Given the description of an element on the screen output the (x, y) to click on. 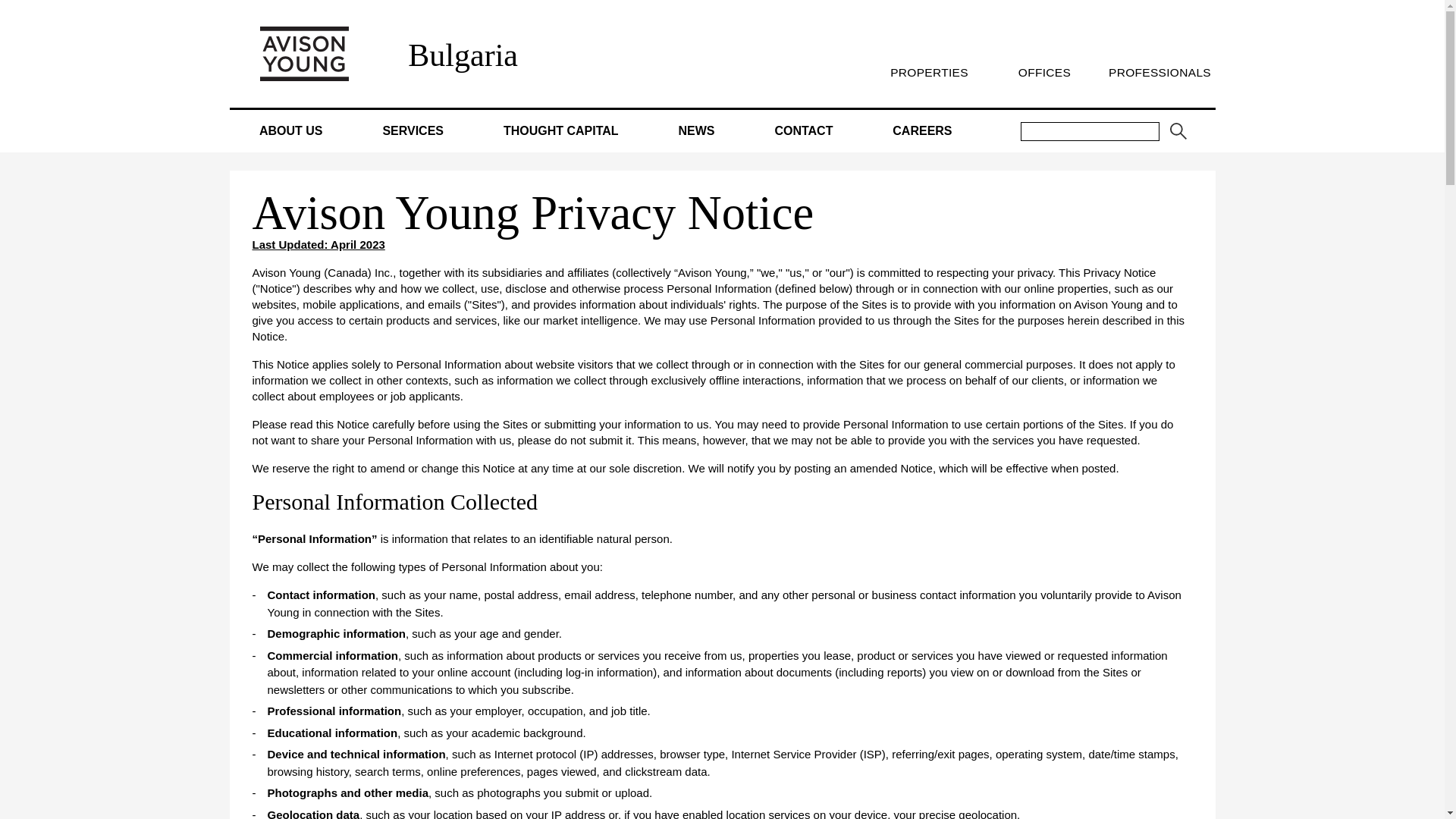
OFFICES (1043, 72)
Bulgaria (462, 54)
PROPERTIES (928, 72)
Skip to Main Content (5, 5)
ABOUT US (291, 130)
PROFESSIONALS (1158, 72)
